Given the description of an element on the screen output the (x, y) to click on. 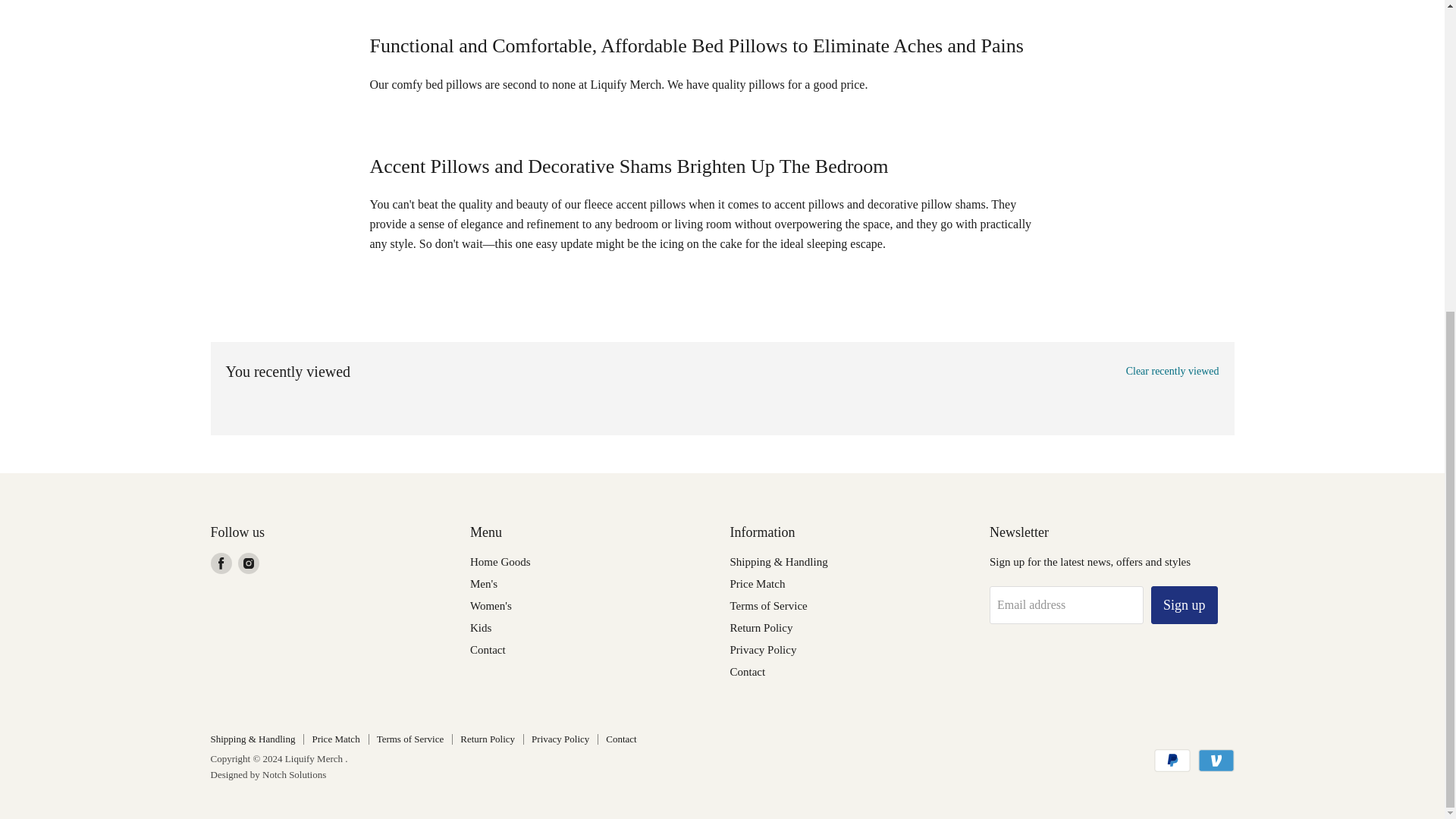
Venmo (1216, 760)
Facebook (221, 563)
Instagram (248, 563)
PayPal (1172, 760)
